Given the description of an element on the screen output the (x, y) to click on. 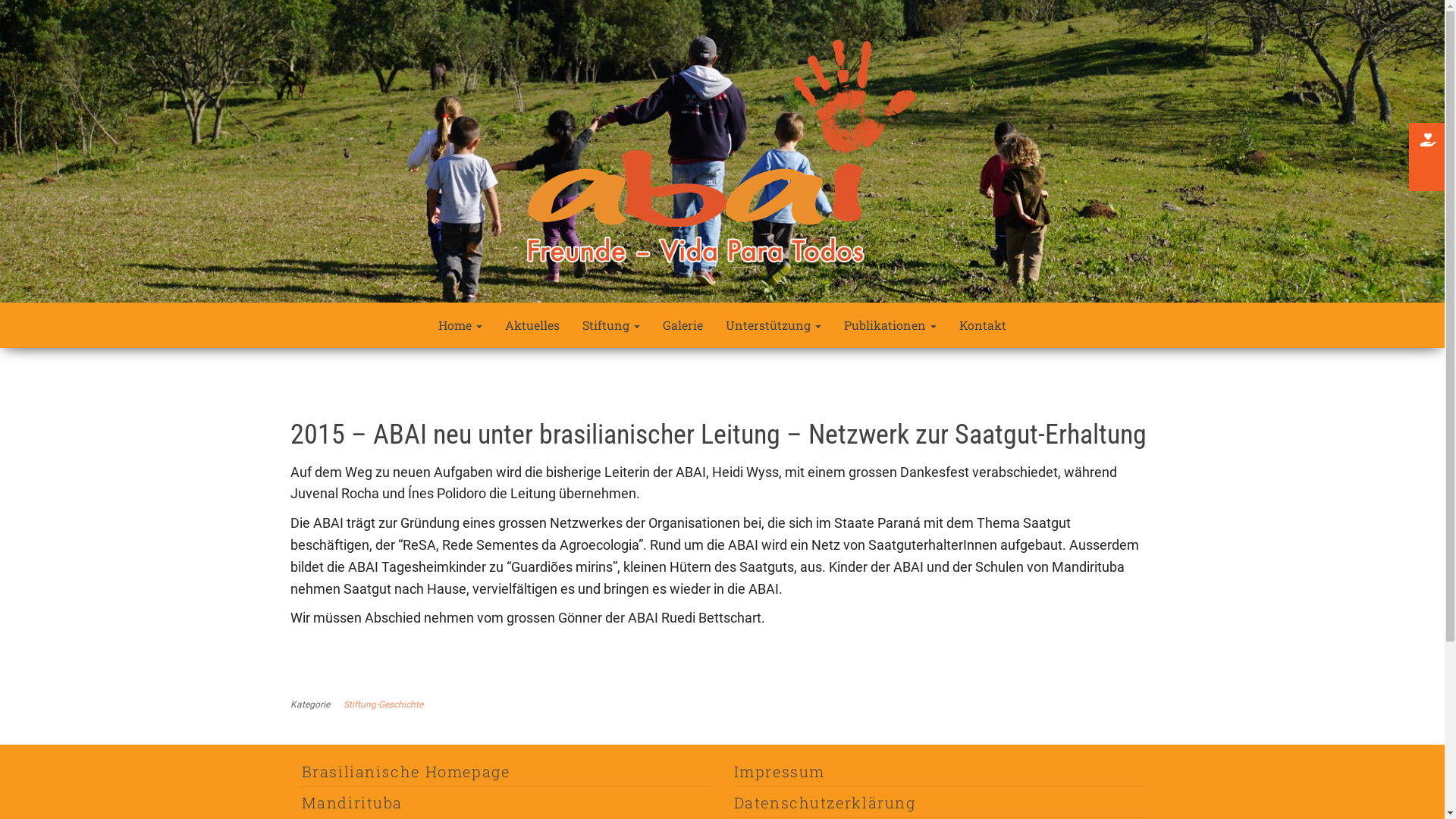
ABAI Element type: text (317, 296)
Mandirituba Element type: text (352, 802)
Impressum Element type: text (779, 771)
Publikationen Element type: text (889, 325)
Home Element type: text (459, 325)
Galerie Element type: text (682, 325)
Kontakt Element type: text (982, 325)
Aktuelles Element type: text (532, 325)
Brasilianische Homepage Element type: text (405, 771)
Stiftung-Geschichte Element type: text (385, 704)
Stiftung Element type: text (611, 325)
